Given the description of an element on the screen output the (x, y) to click on. 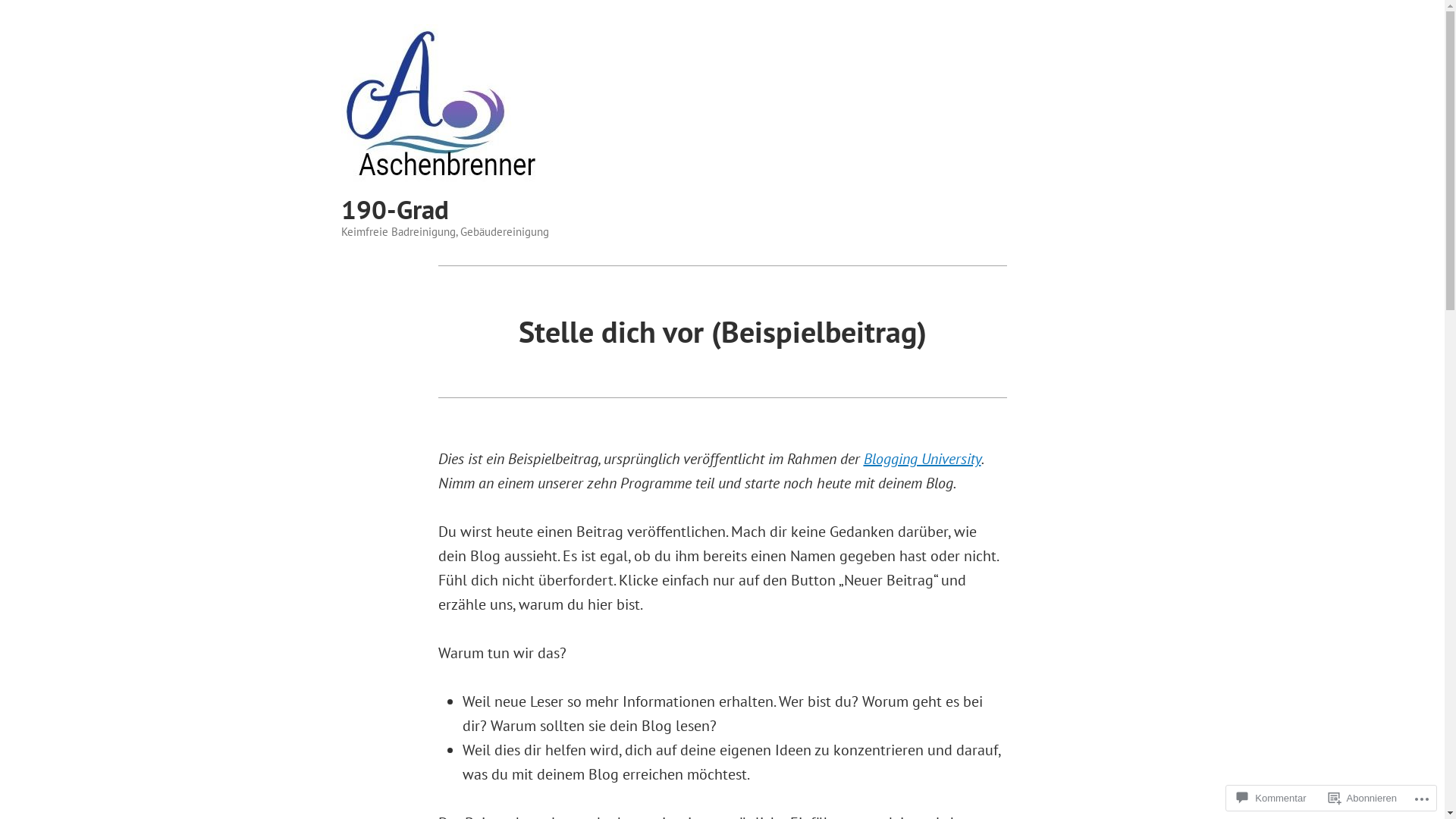
Abonnieren Element type: text (1362, 797)
Kommentar Element type: text (1270, 797)
Blogging University Element type: text (921, 458)
190-Grad Element type: text (394, 208)
